Given the description of an element on the screen output the (x, y) to click on. 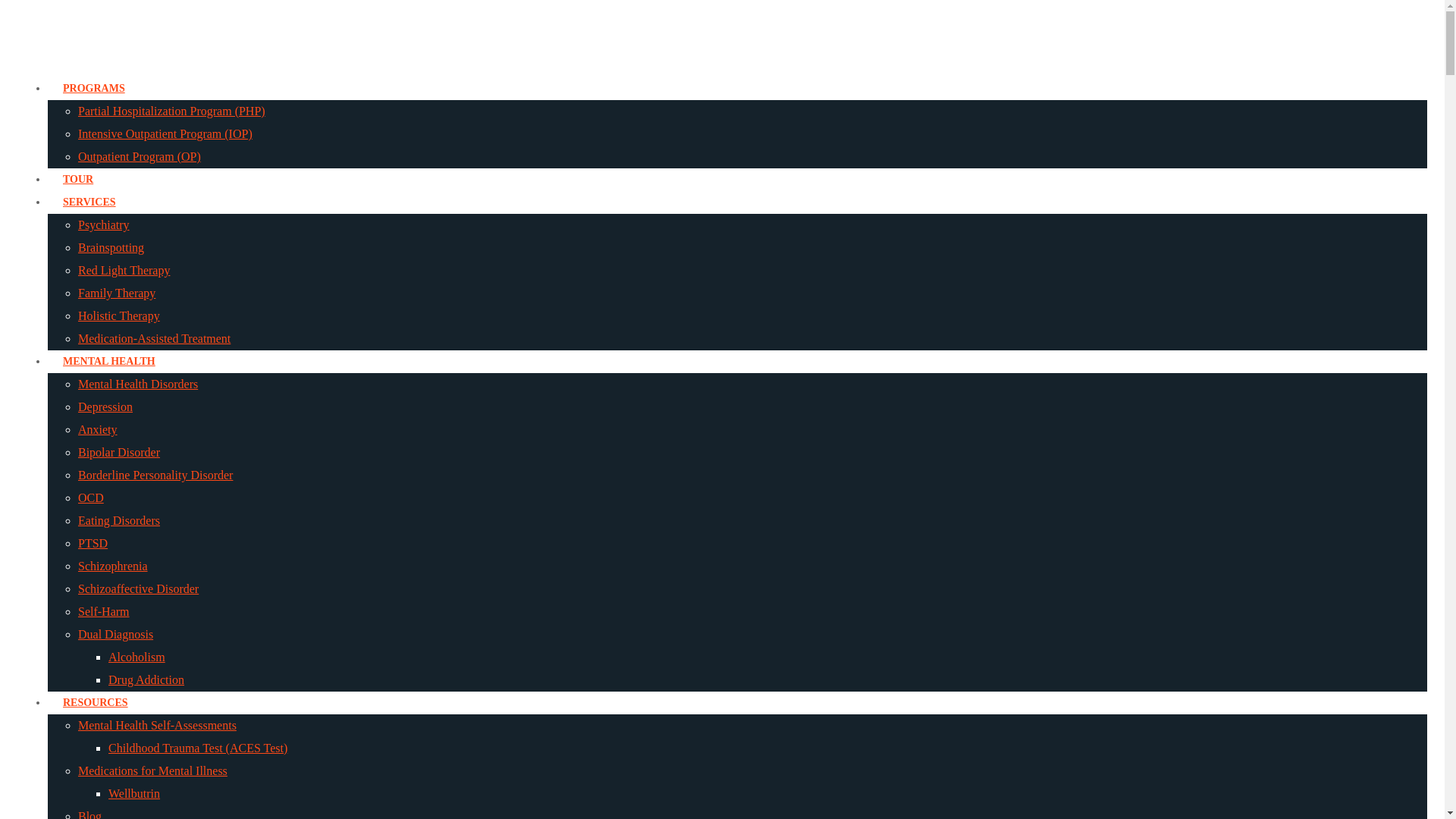
Medication-Assisted Treatment (154, 338)
Bipolar Disorder (119, 451)
TOUR (77, 179)
PROGRAMS (93, 88)
Family Therapy (116, 292)
Borderline Personality Disorder (155, 474)
PTSD (92, 543)
Anxiety (97, 429)
Medications for Mental Illness (152, 770)
Depression (105, 406)
OCD (90, 497)
Schizophrenia (113, 565)
Blog (89, 814)
Eating Disorders (119, 520)
Schizoaffective Disorder (138, 588)
